Given the description of an element on the screen output the (x, y) to click on. 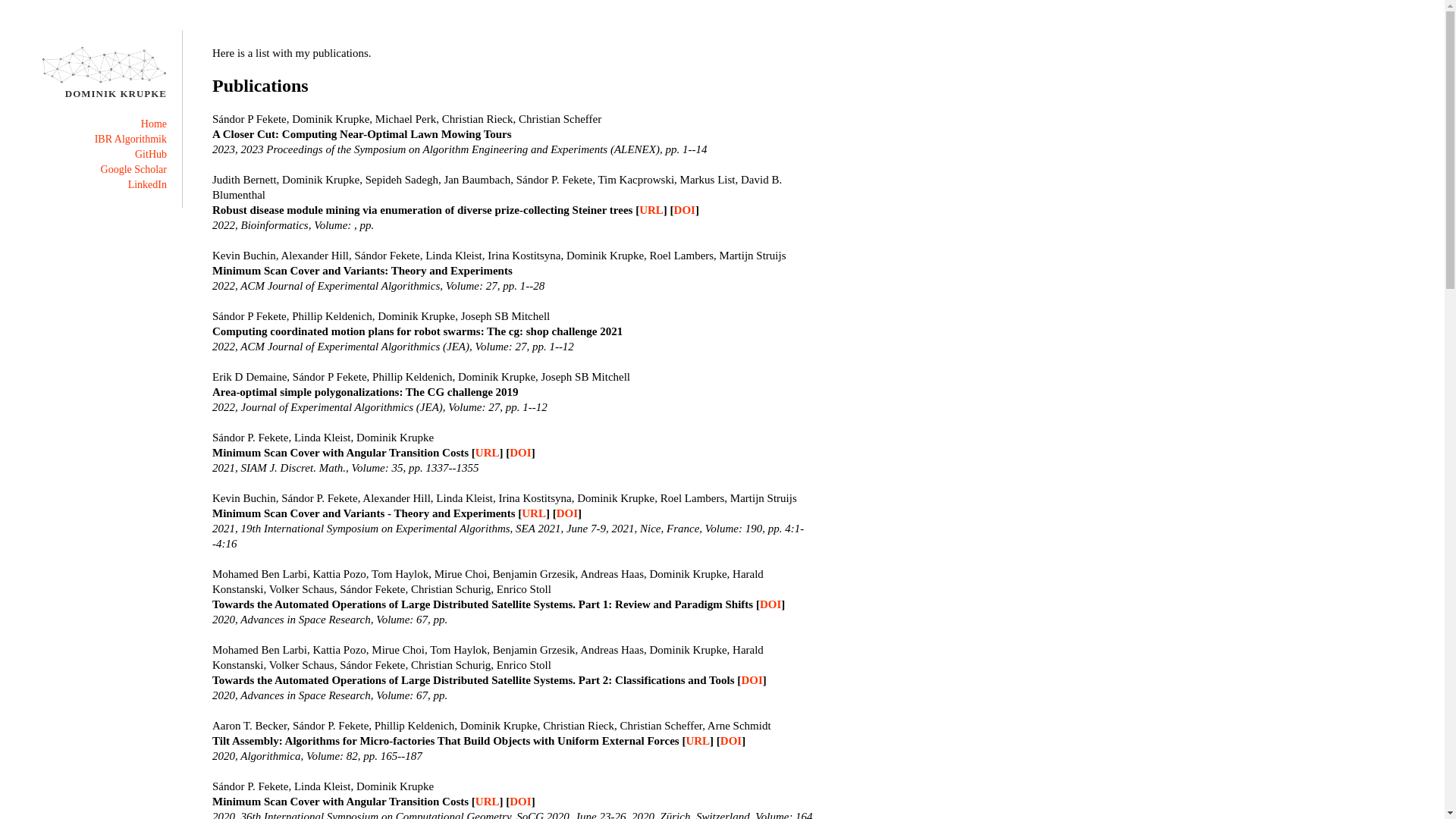
Home Element type: text (153, 123)
LinkedIn Element type: text (147, 184)
DOI Element type: text (684, 209)
GitHub Element type: text (150, 154)
URL Element type: text (487, 801)
URL Element type: text (533, 513)
URL Element type: text (697, 740)
DOI Element type: text (566, 513)
DOI Element type: text (751, 680)
Google Scholar Element type: text (133, 169)
IBR Algorithmik Element type: text (130, 138)
URL Element type: text (651, 209)
URL Element type: text (487, 452)
DOI Element type: text (770, 604)
DOI Element type: text (519, 452)
DOI Element type: text (519, 801)
DOI Element type: text (730, 740)
